Given the description of an element on the screen output the (x, y) to click on. 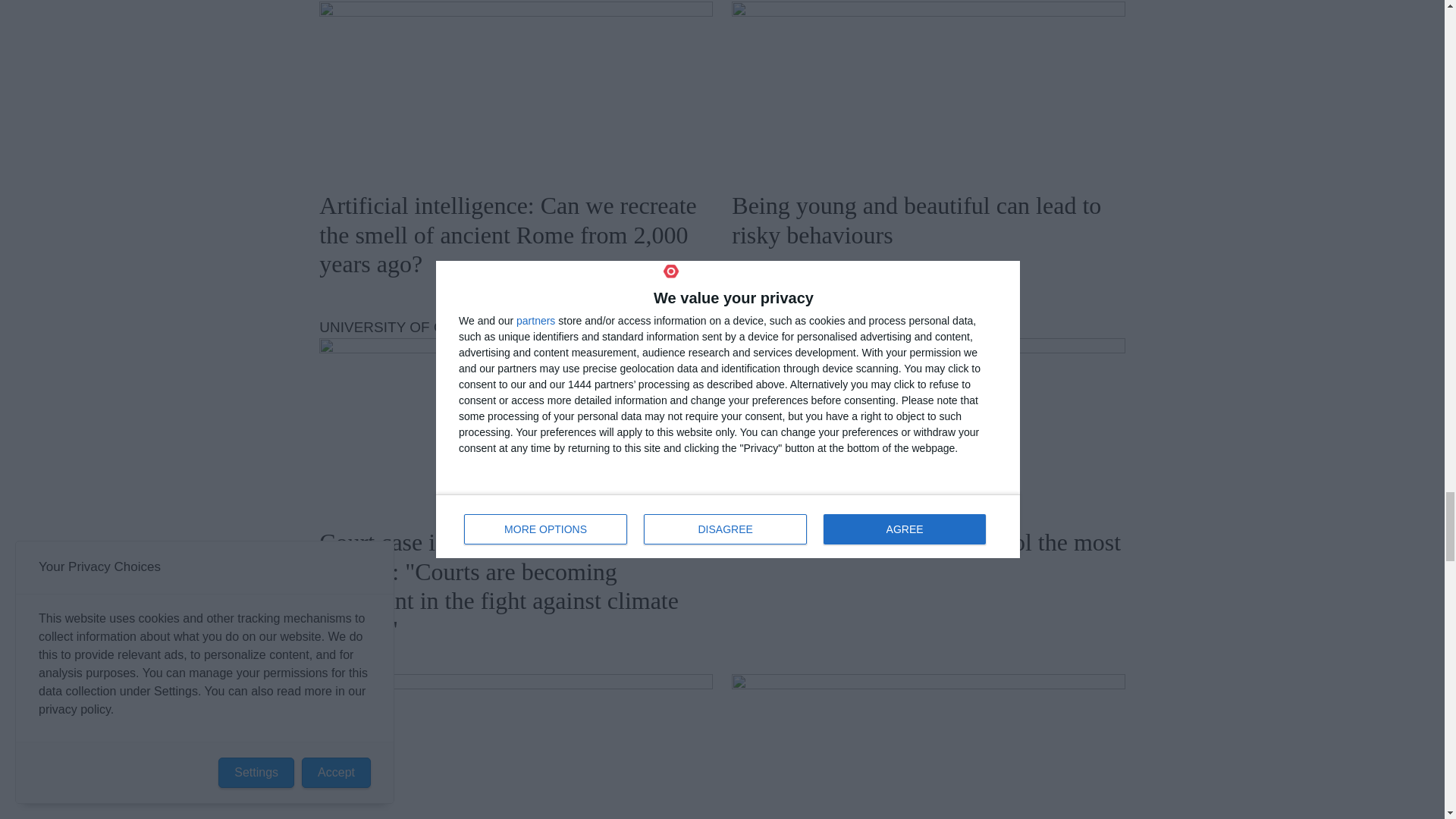
Being young and beautiful can lead to risky behaviours (928, 90)
Norwegian boys dislike school the most (928, 426)
